Given the description of an element on the screen output the (x, y) to click on. 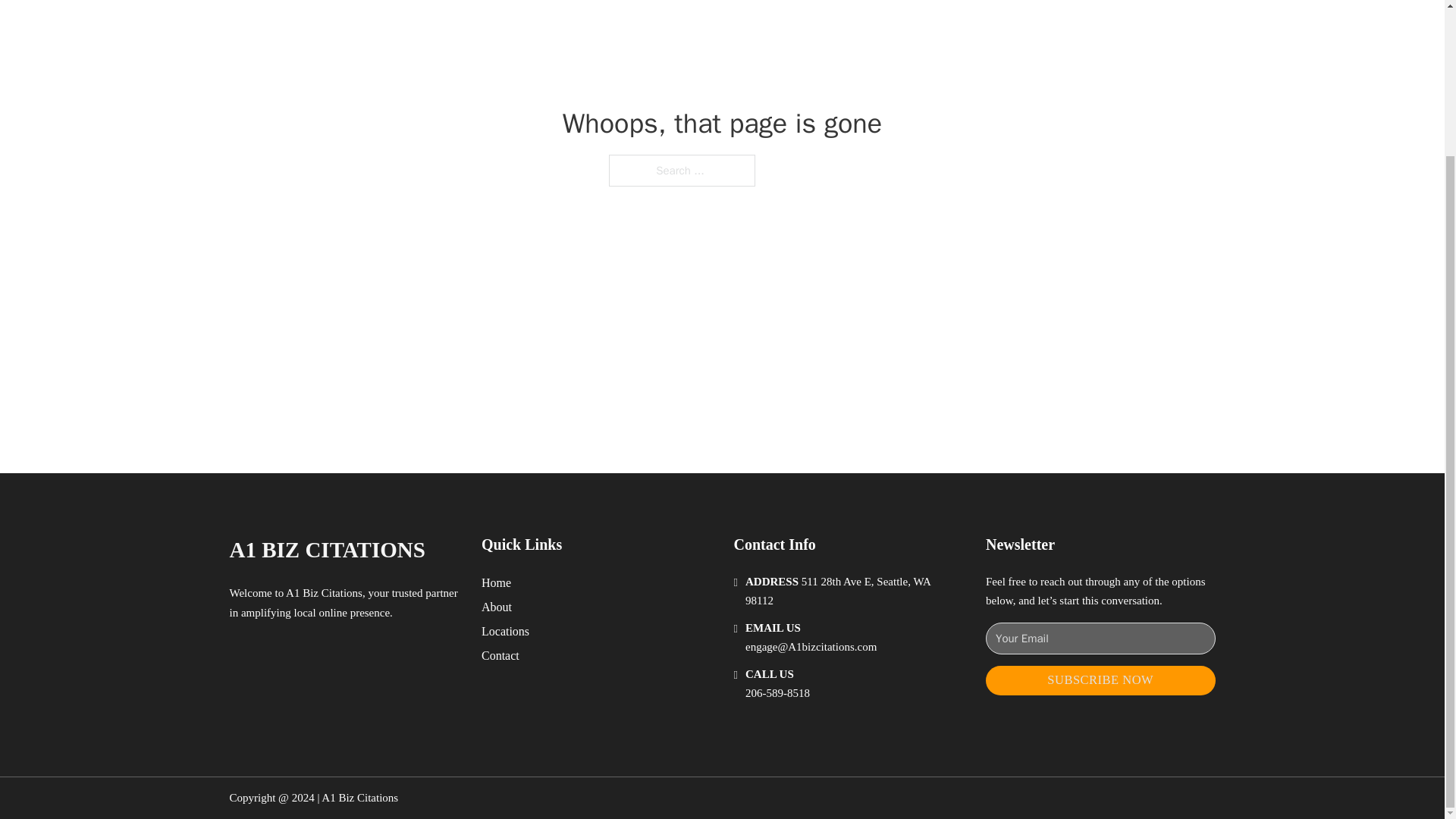
About (496, 607)
SUBSCRIBE NOW (1100, 680)
Contact (500, 655)
Locations (505, 630)
Home (496, 582)
A1 BIZ CITATIONS (326, 549)
206-589-8518 (777, 693)
